Given the description of an element on the screen output the (x, y) to click on. 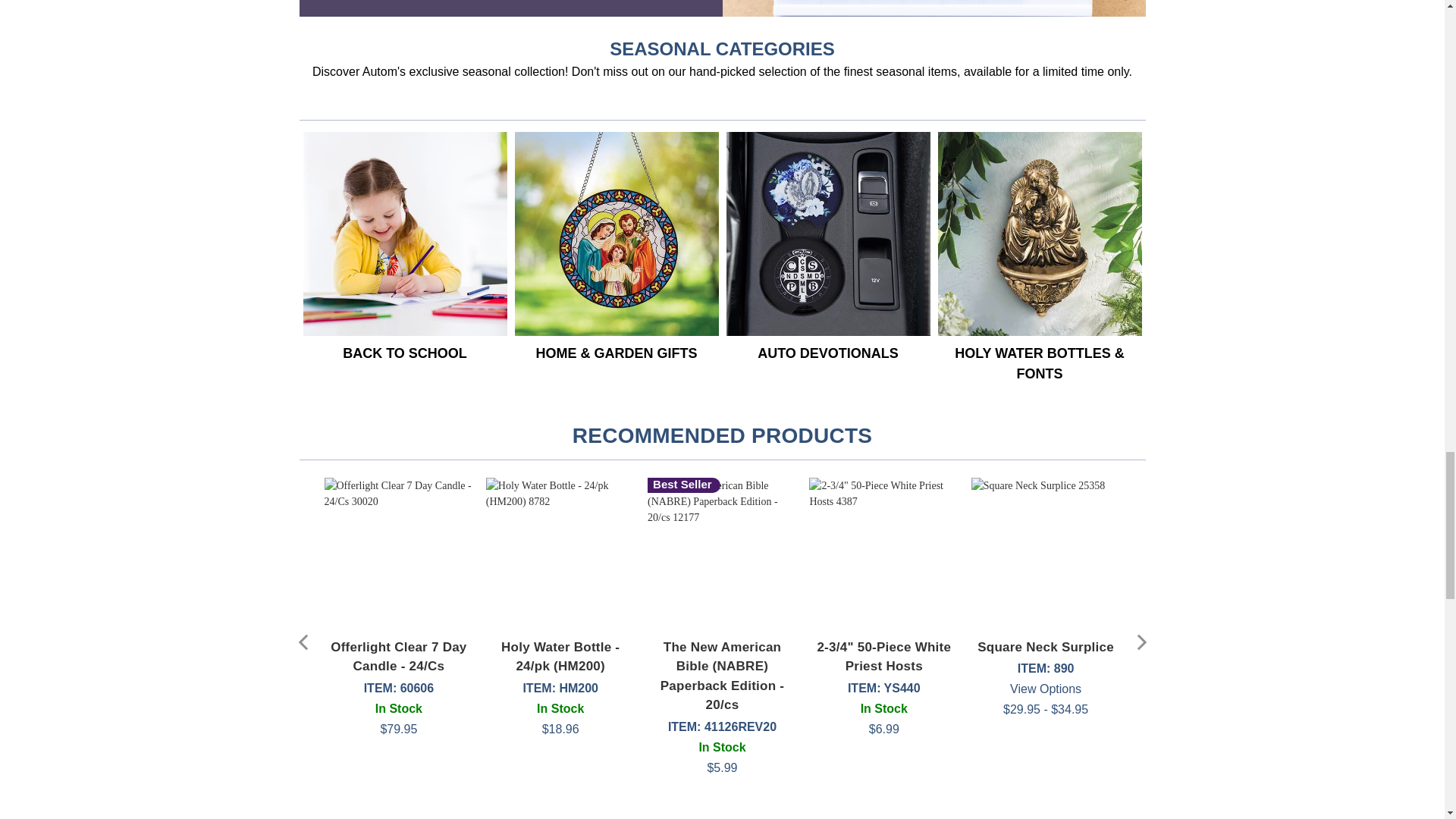
Square Neck Surplice 25358 (1046, 552)
